Given the description of an element on the screen output the (x, y) to click on. 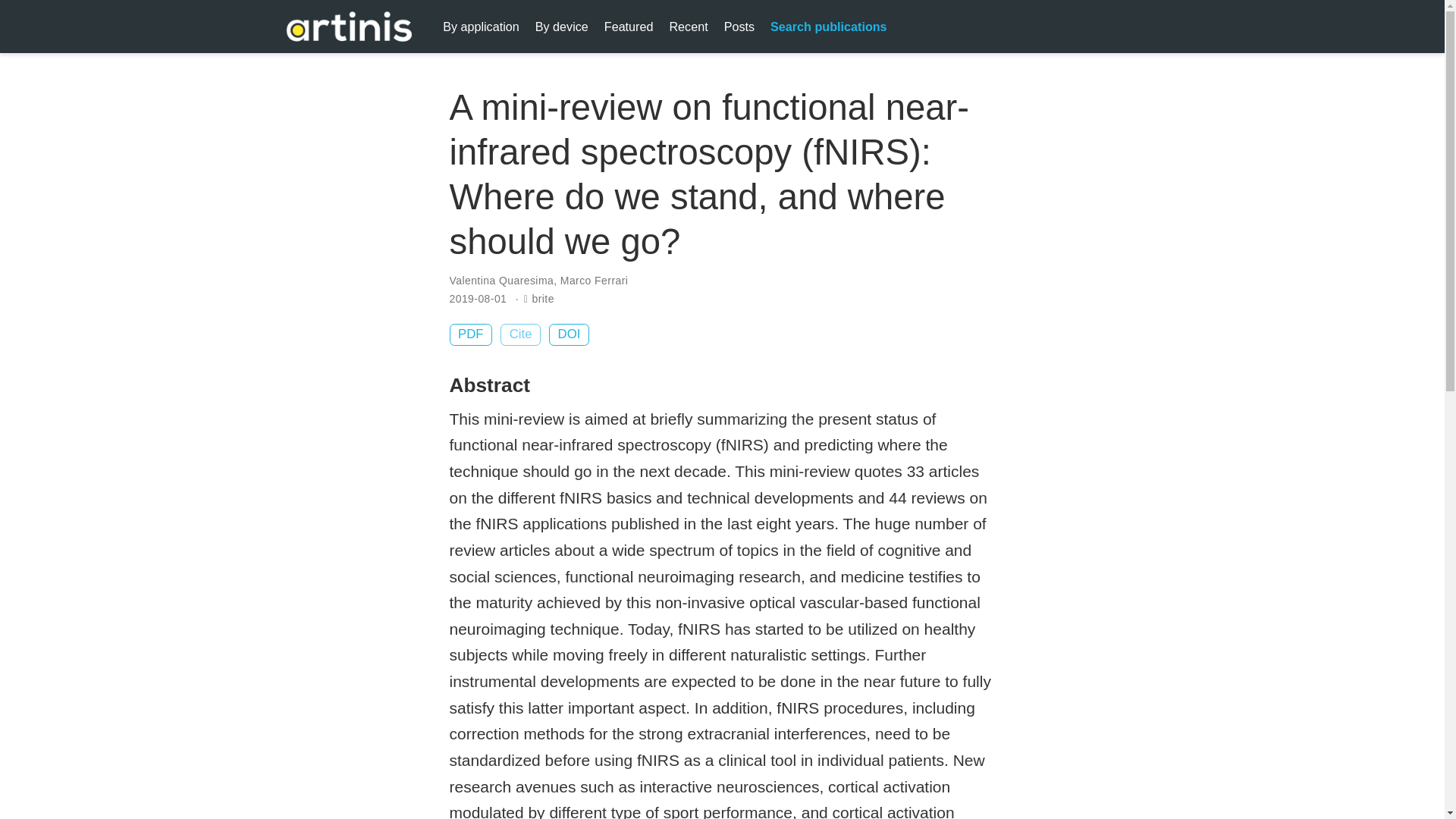
Search publications (828, 25)
PDF (470, 334)
Recent (688, 25)
Featured (628, 25)
Posts (738, 25)
By device (561, 25)
Cite (520, 334)
brite (543, 298)
Valentina Quaresima (500, 280)
Marco Ferrari (593, 280)
DOI (568, 334)
By application (481, 25)
